Given the description of an element on the screen output the (x, y) to click on. 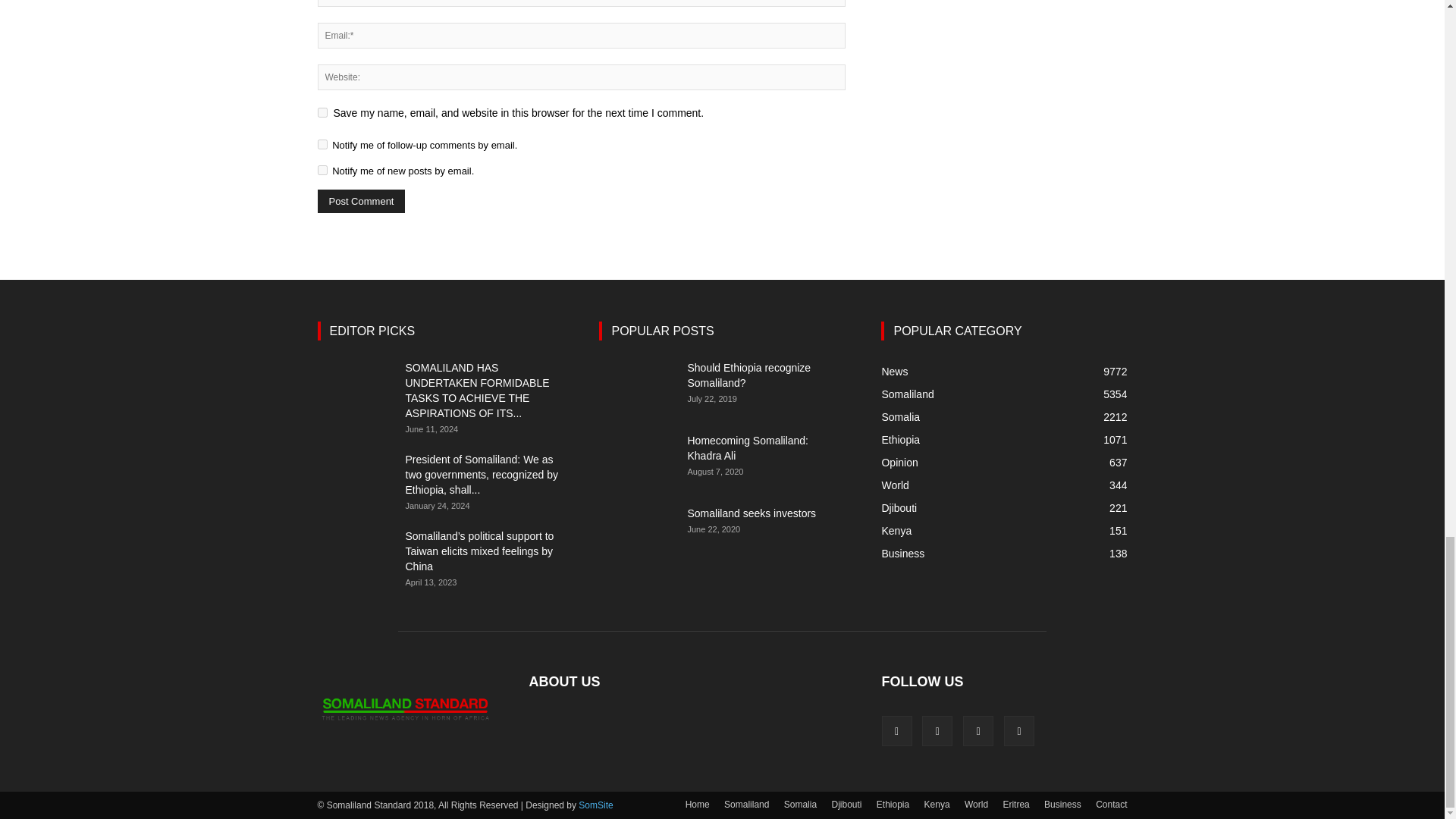
subscribe (321, 170)
subscribe (321, 144)
yes (321, 112)
Post Comment (360, 200)
